Given the description of an element on the screen output the (x, y) to click on. 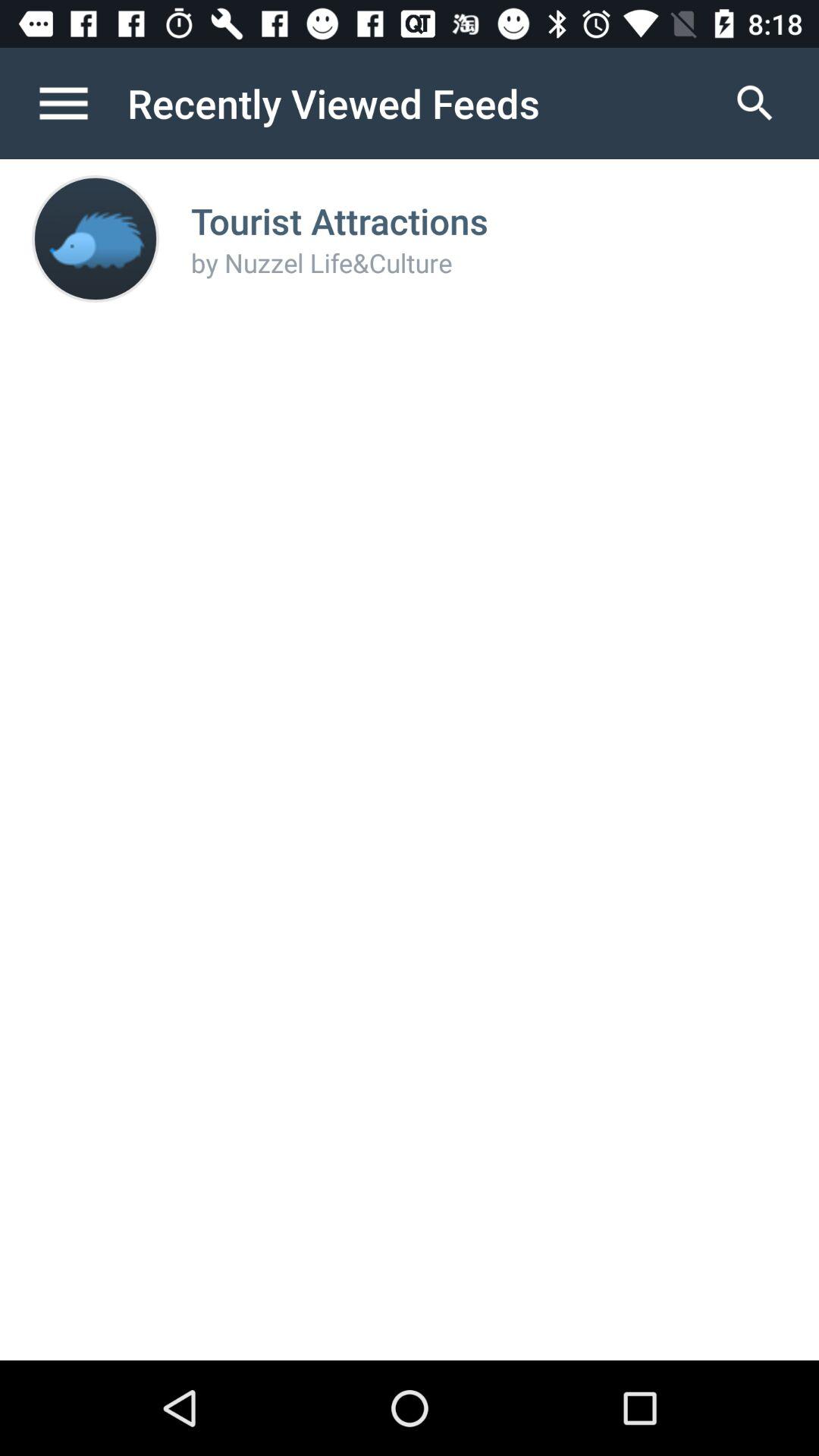
launch the icon to the left of recently viewed feeds item (79, 103)
